Given the description of an element on the screen output the (x, y) to click on. 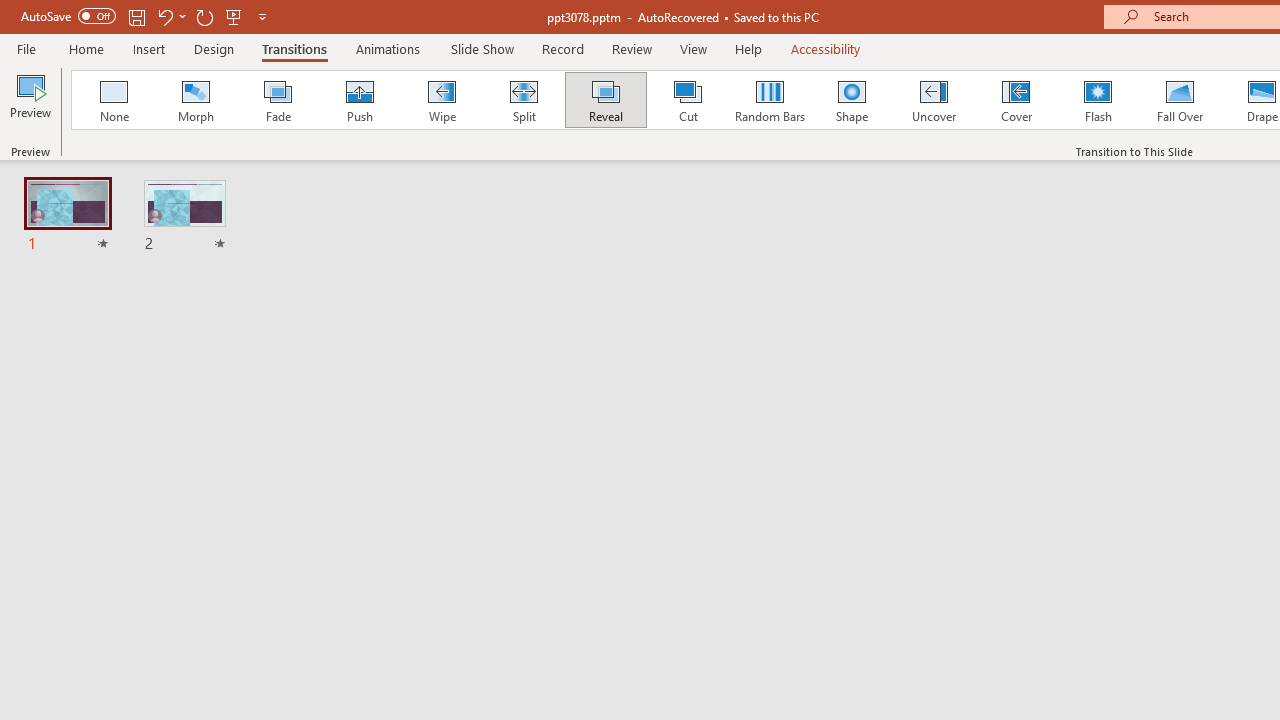
Uncover (934, 100)
Random Bars (770, 100)
Cover (1016, 100)
None (113, 100)
Split (523, 100)
